Given the description of an element on the screen output the (x, y) to click on. 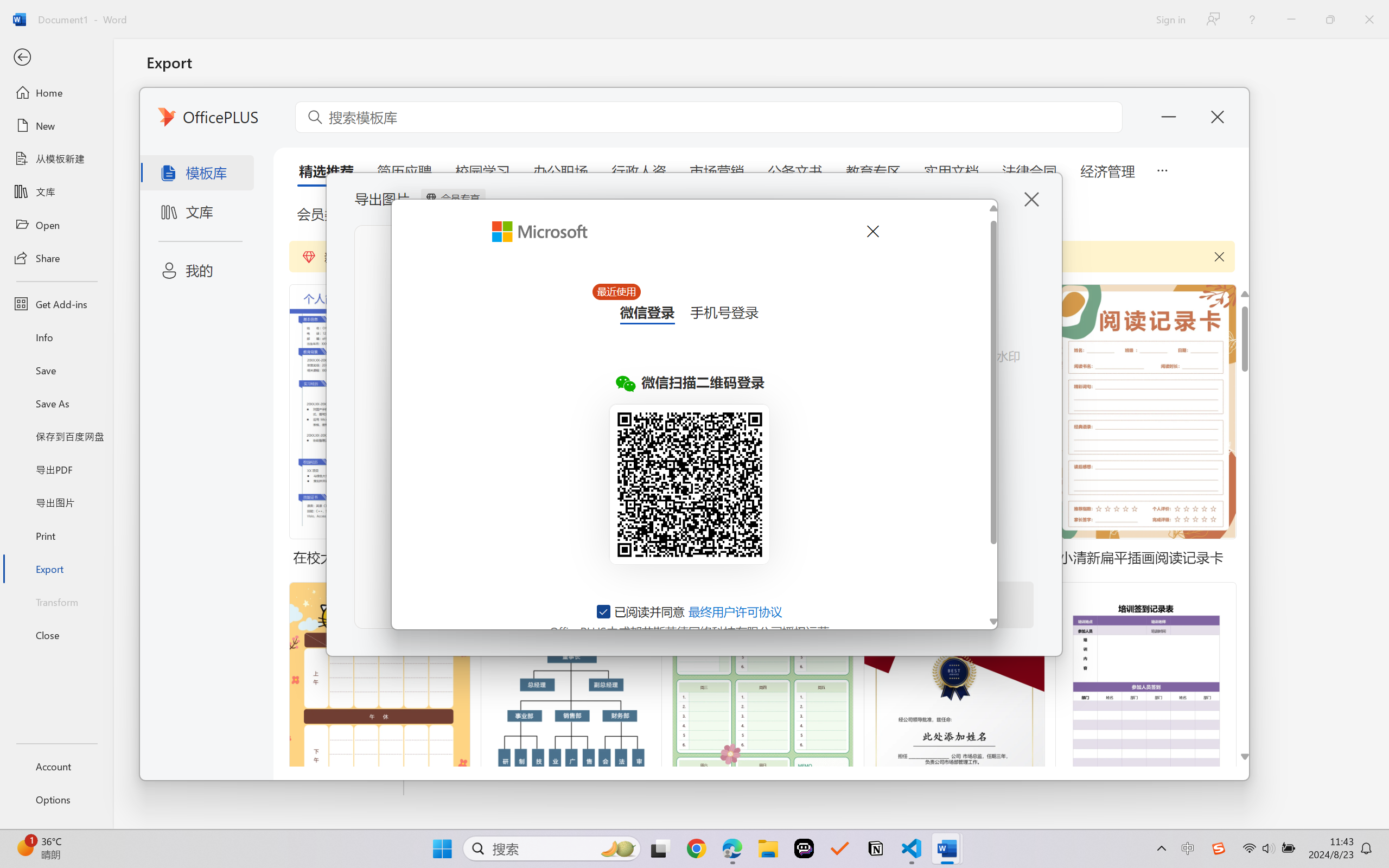
Change File Type (275, 158)
Get Add-ins (56, 303)
Back (56, 57)
AutomationID: checkbox-14 (604, 611)
